Given the description of an element on the screen output the (x, y) to click on. 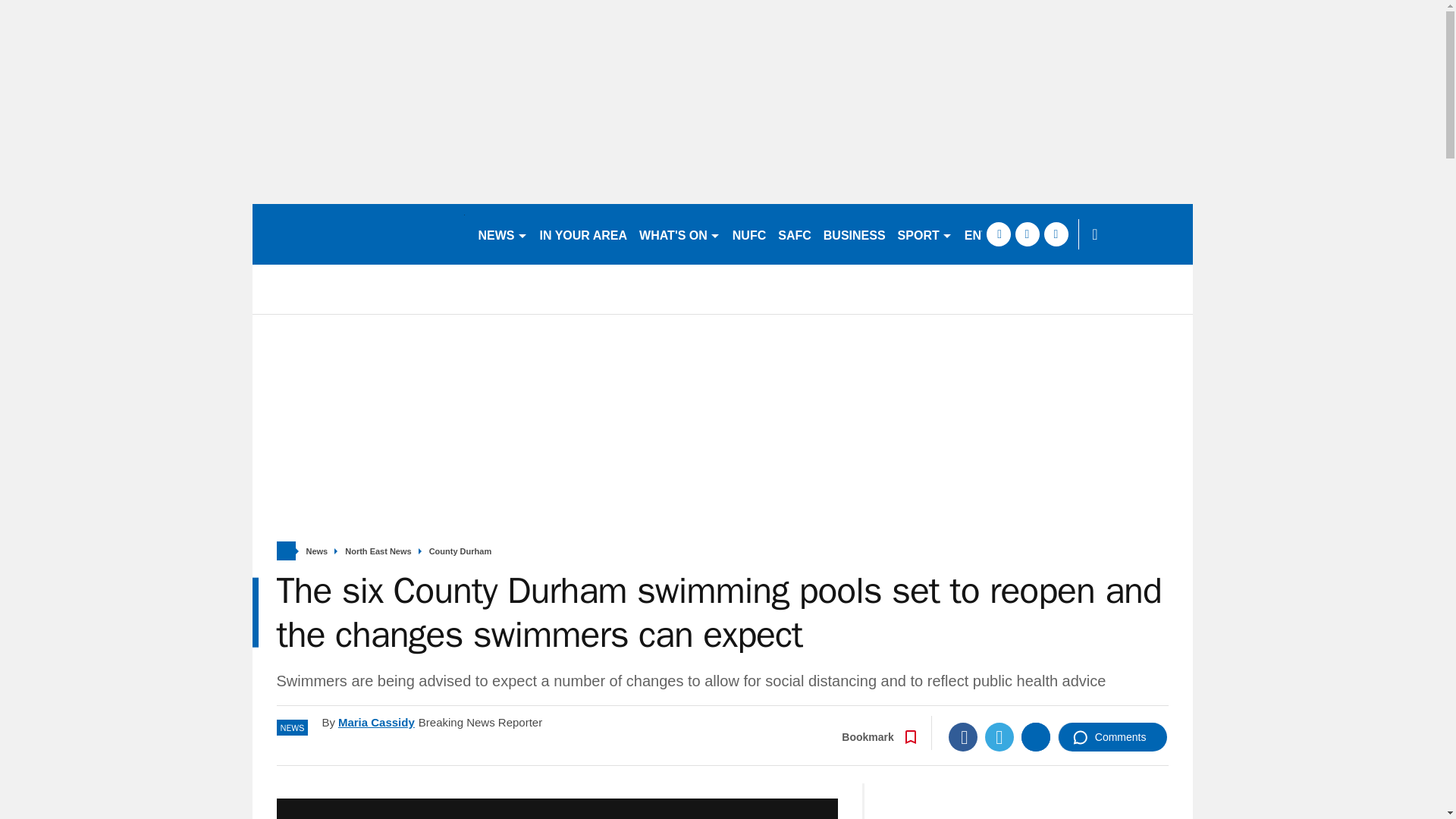
IN YOUR AREA (583, 233)
BUSINESS (853, 233)
Twitter (999, 736)
Facebook (962, 736)
SPORT (924, 233)
facebook (997, 233)
WHAT'S ON (679, 233)
instagram (1055, 233)
nechronicle (357, 233)
Comments (1112, 736)
twitter (1026, 233)
NEWS (501, 233)
